Given the description of an element on the screen output the (x, y) to click on. 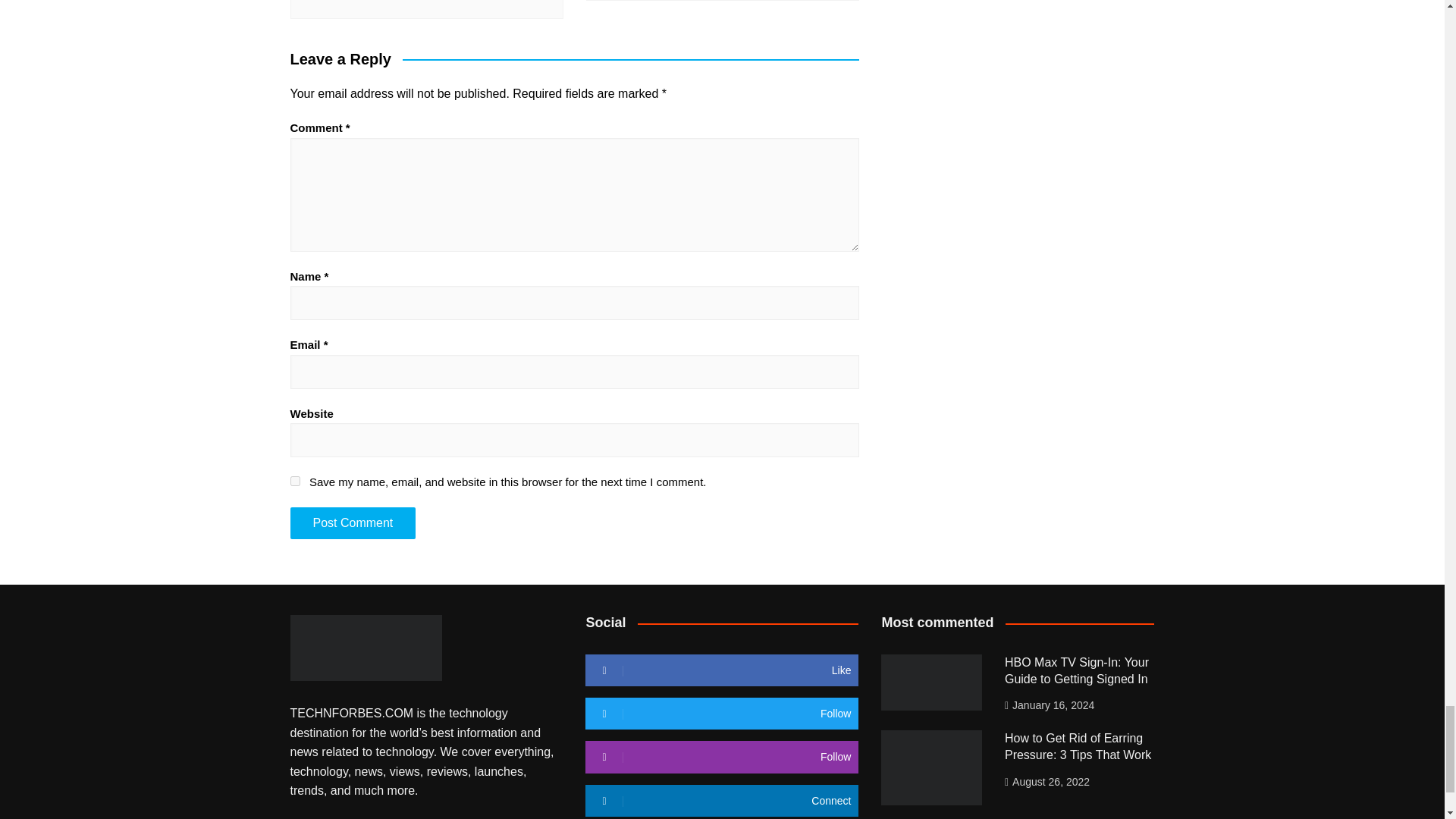
yes (294, 480)
November 7, 2023 (434, 1)
Jawad Sharif (340, 1)
Post Comment (351, 522)
